Given the description of an element on the screen output the (x, y) to click on. 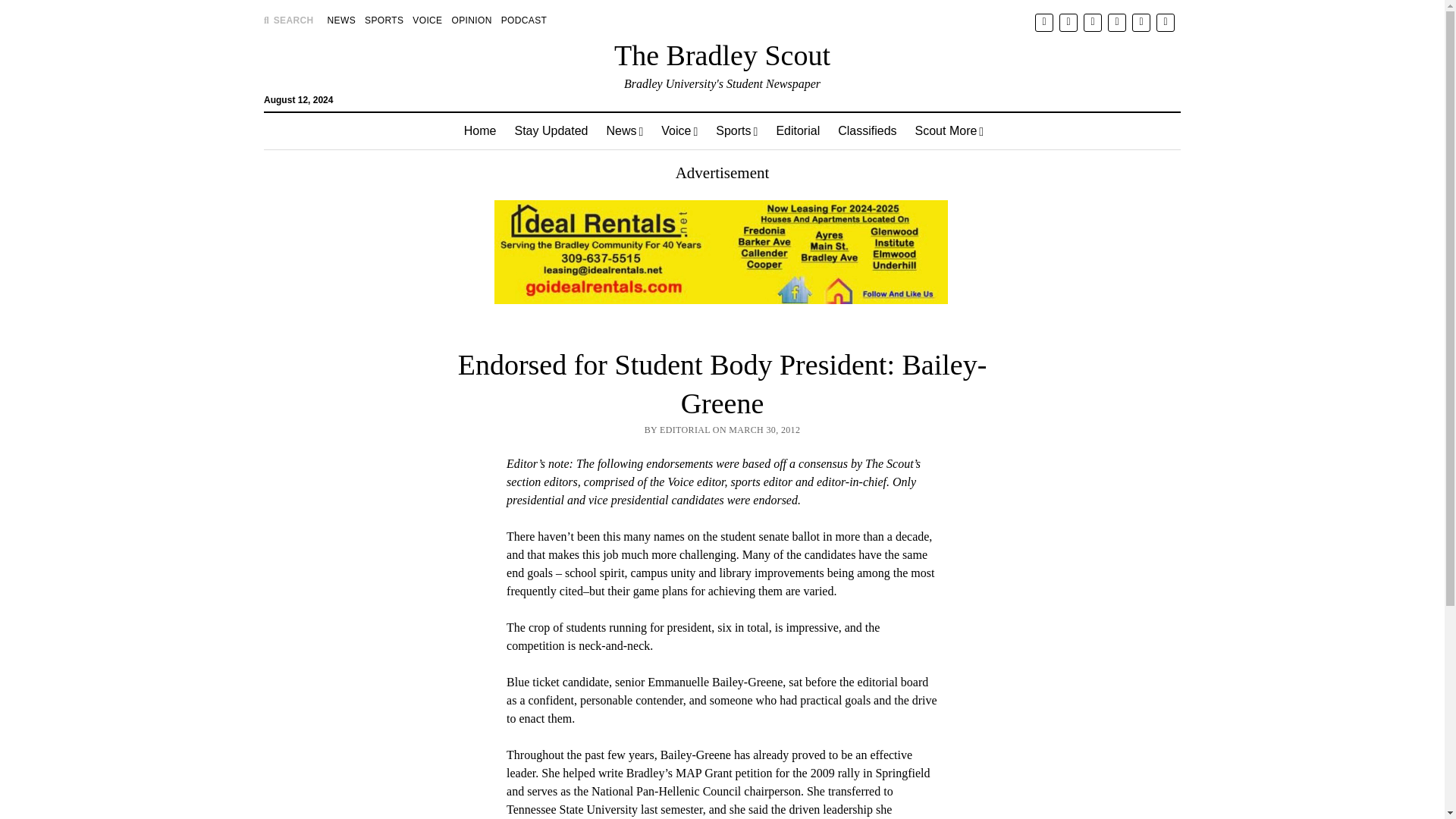
SEARCH (288, 20)
Scout More (948, 131)
The Bradley Scout (721, 55)
Search (945, 129)
Sports (736, 131)
OPINION (471, 20)
Editorial (797, 131)
News (624, 131)
PODCAST (523, 20)
VOICE (427, 20)
